Given the description of an element on the screen output the (x, y) to click on. 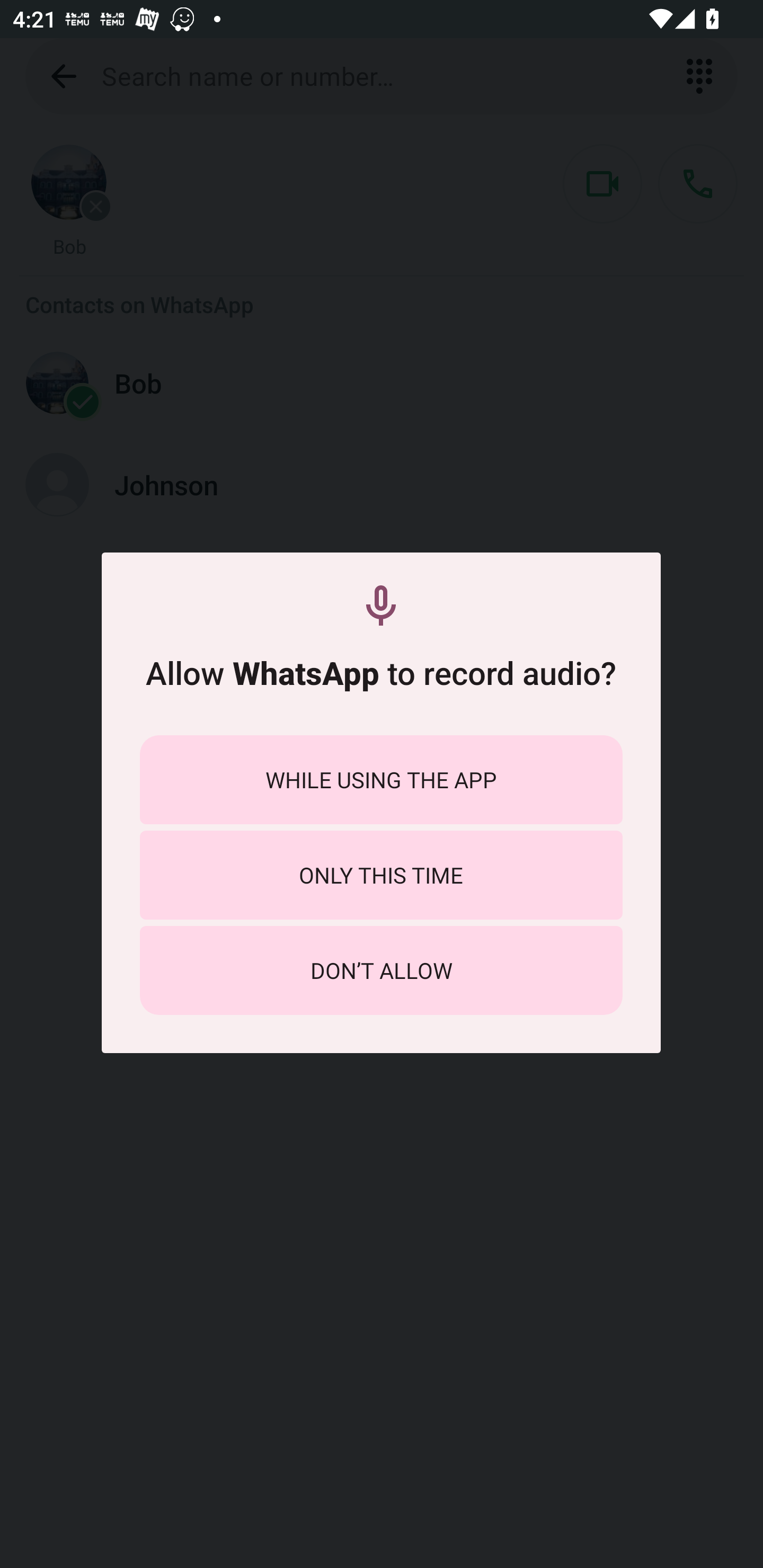
WHILE USING THE APP (380, 779)
ONLY THIS TIME (380, 874)
DON’T ALLOW (380, 970)
